Given the description of an element on the screen output the (x, y) to click on. 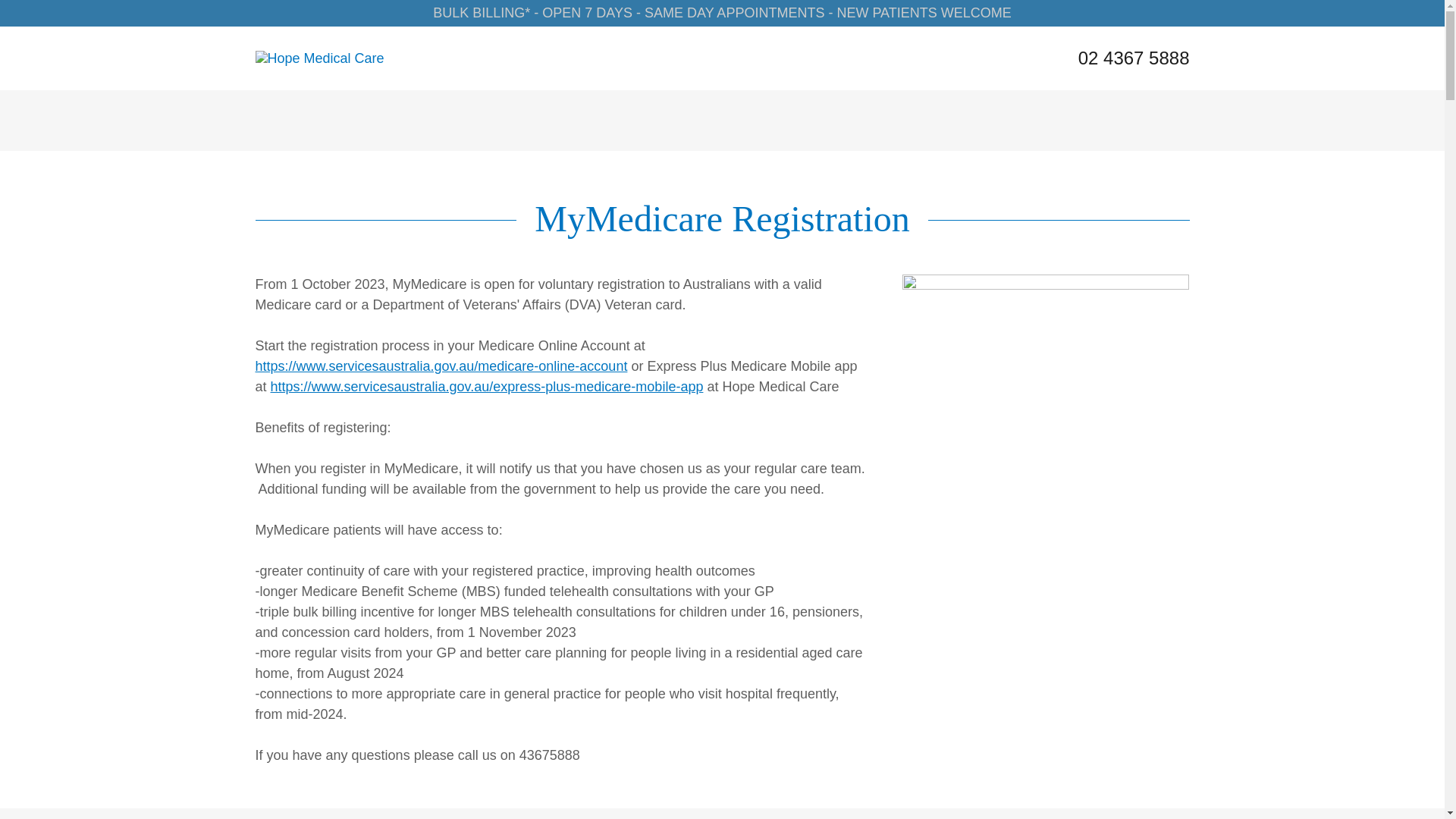
https://www.servicesaustralia.gov.au/medicare-online-account Element type: text (440, 365)
Hope Medical Care Element type: hover (318, 57)
02 4367 5888 Element type: text (1133, 57)
